Given the description of an element on the screen output the (x, y) to click on. 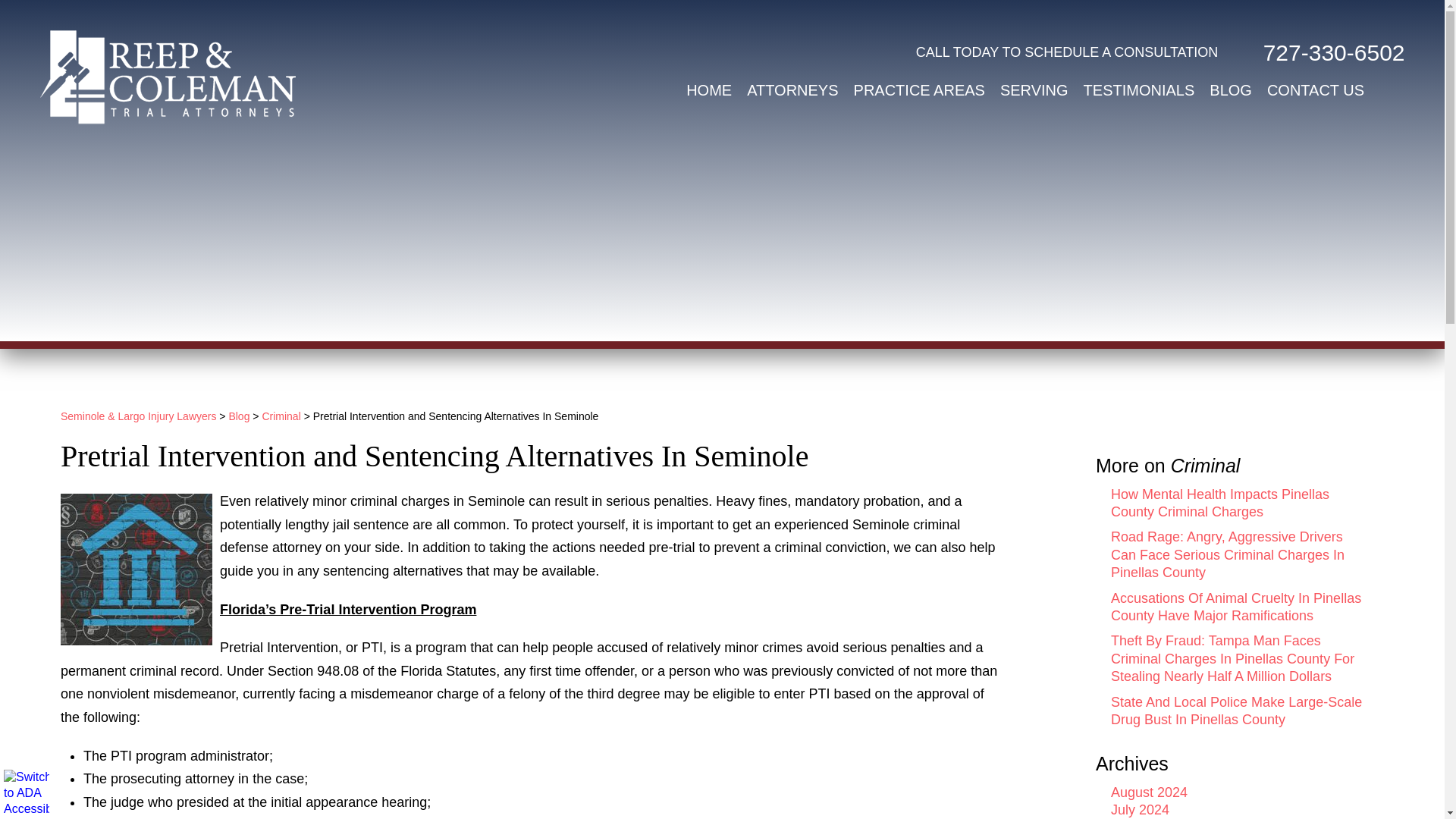
SERVING (1033, 90)
Switch to ADA Accessible Theme (26, 791)
CrimTrial (136, 569)
PRACTICE AREAS (918, 90)
ATTORNEYS (792, 90)
HOME (708, 90)
727-330-6502 (1320, 52)
